Given the description of an element on the screen output the (x, y) to click on. 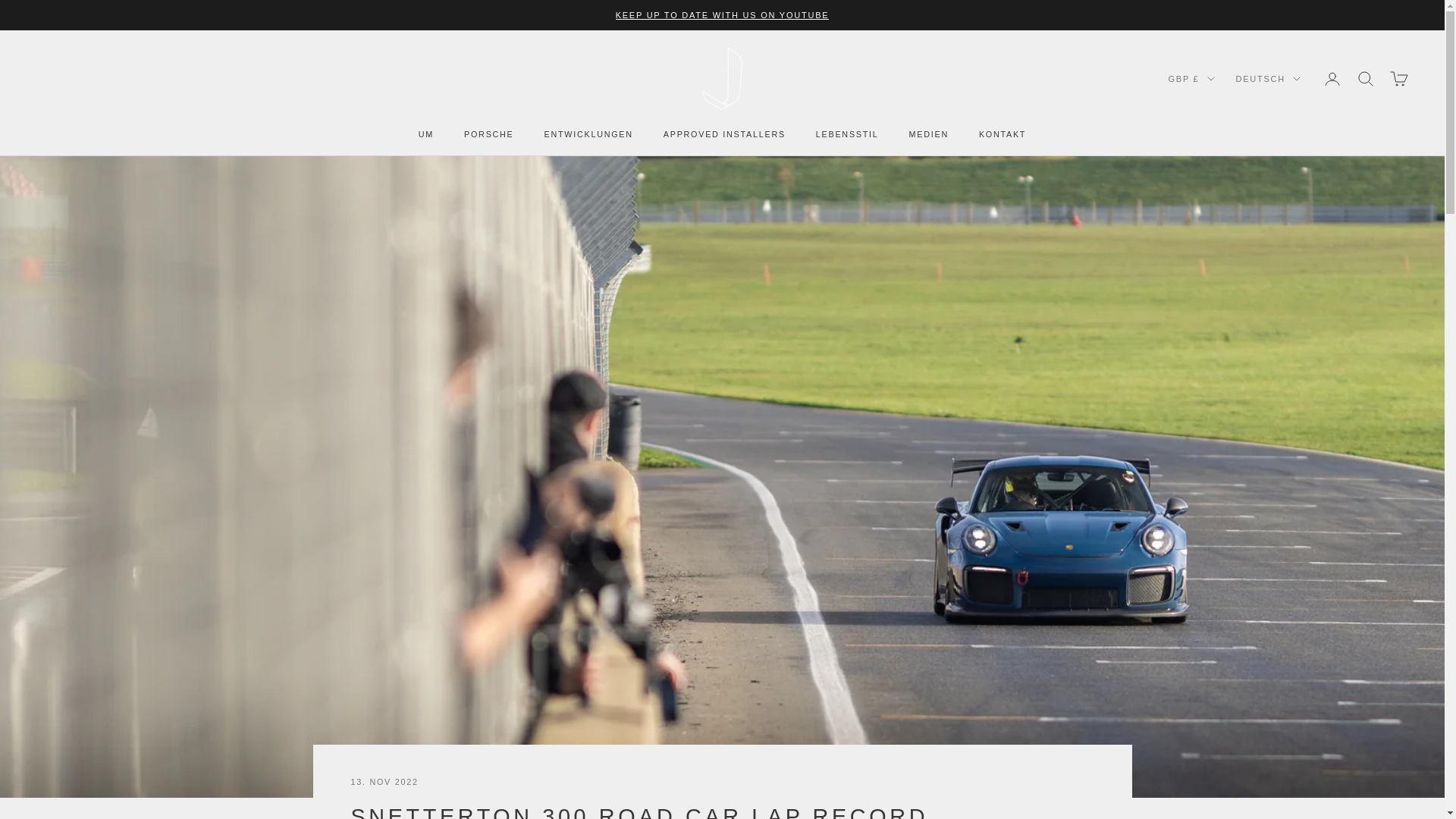
KEEP UP TO DATE WITH US ON YOUTUBE (722, 14)
